Given the description of an element on the screen output the (x, y) to click on. 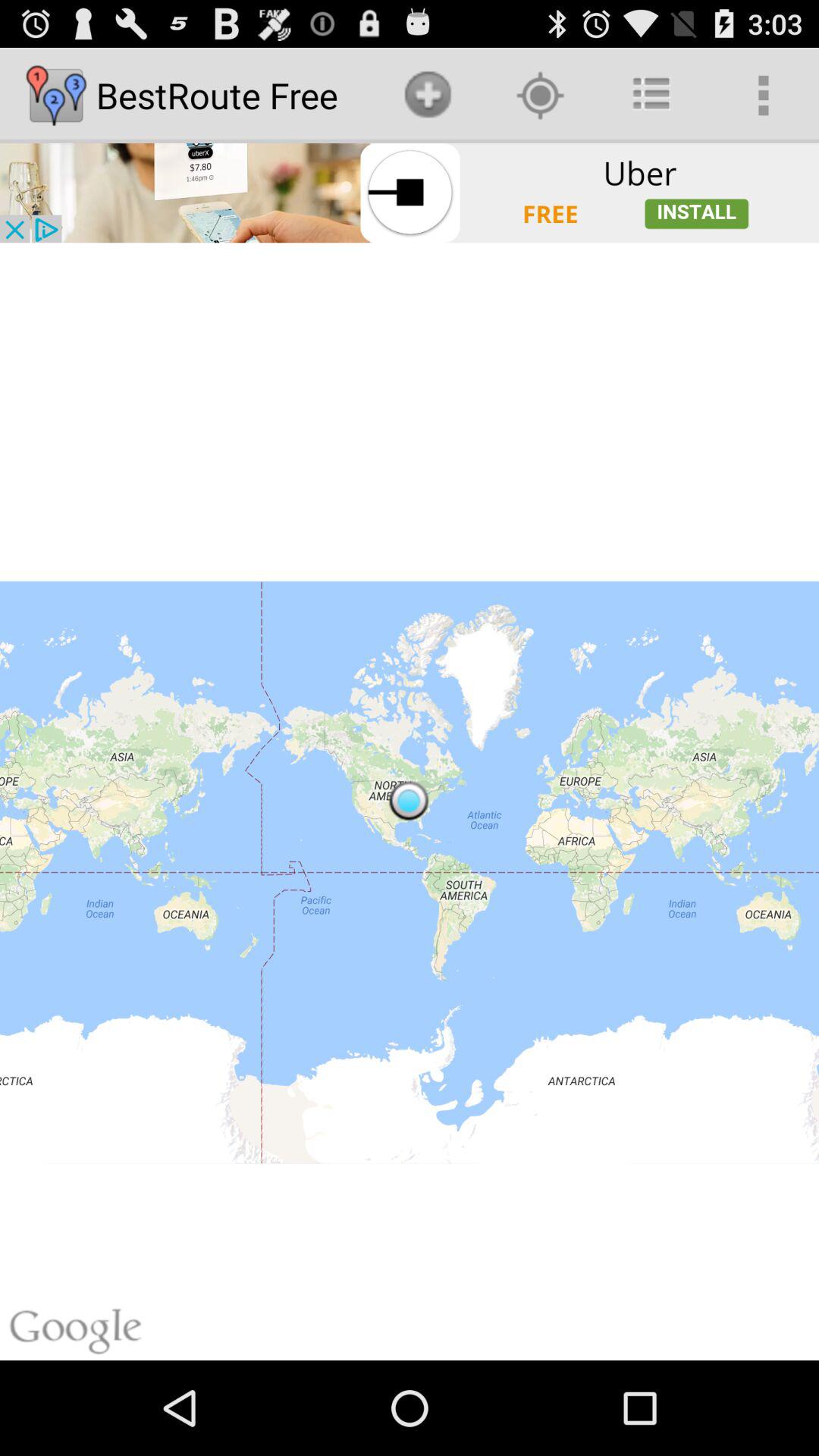
open advertisement (409, 192)
